Given the description of an element on the screen output the (x, y) to click on. 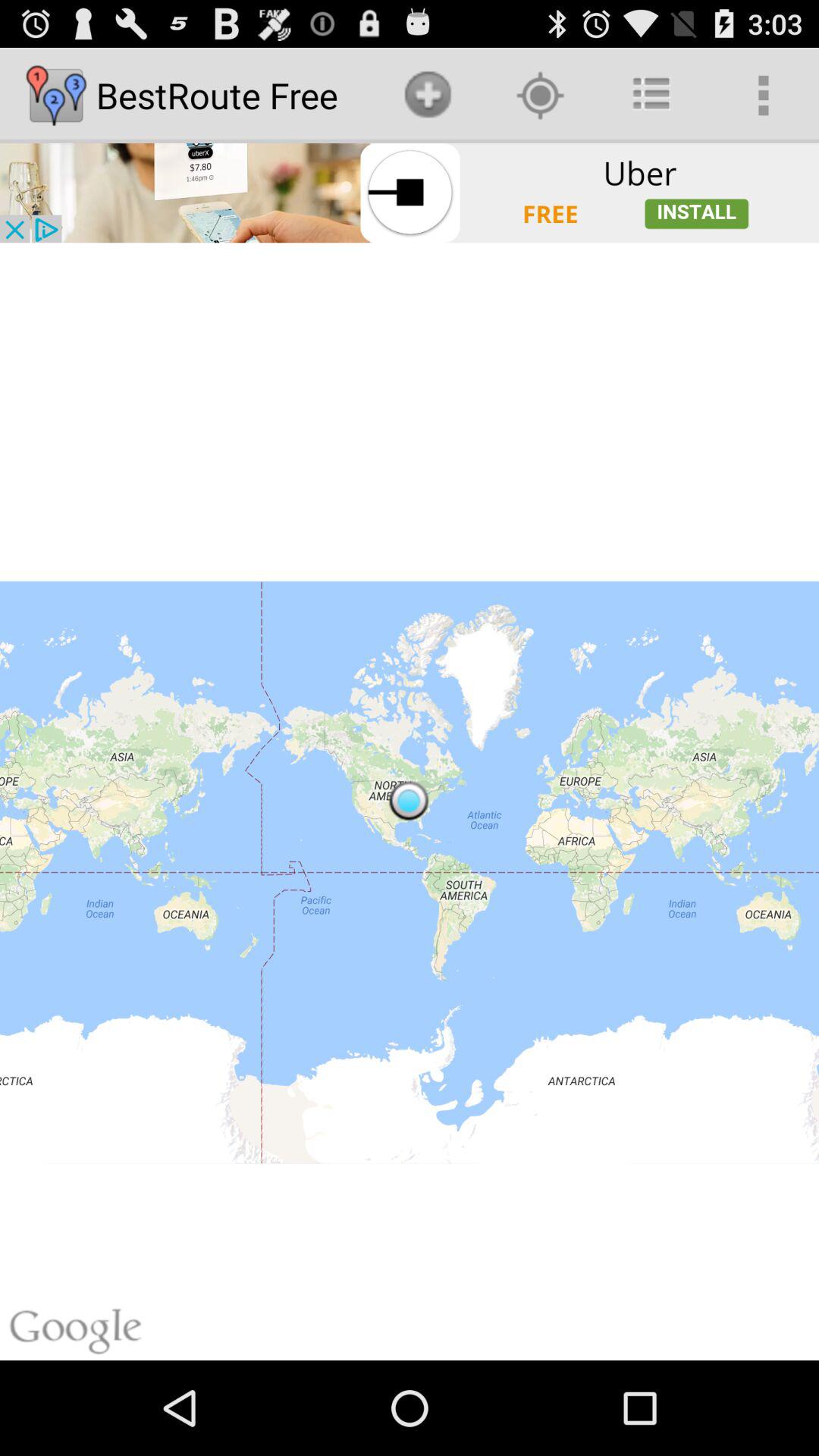
open advertisement (409, 192)
